Given the description of an element on the screen output the (x, y) to click on. 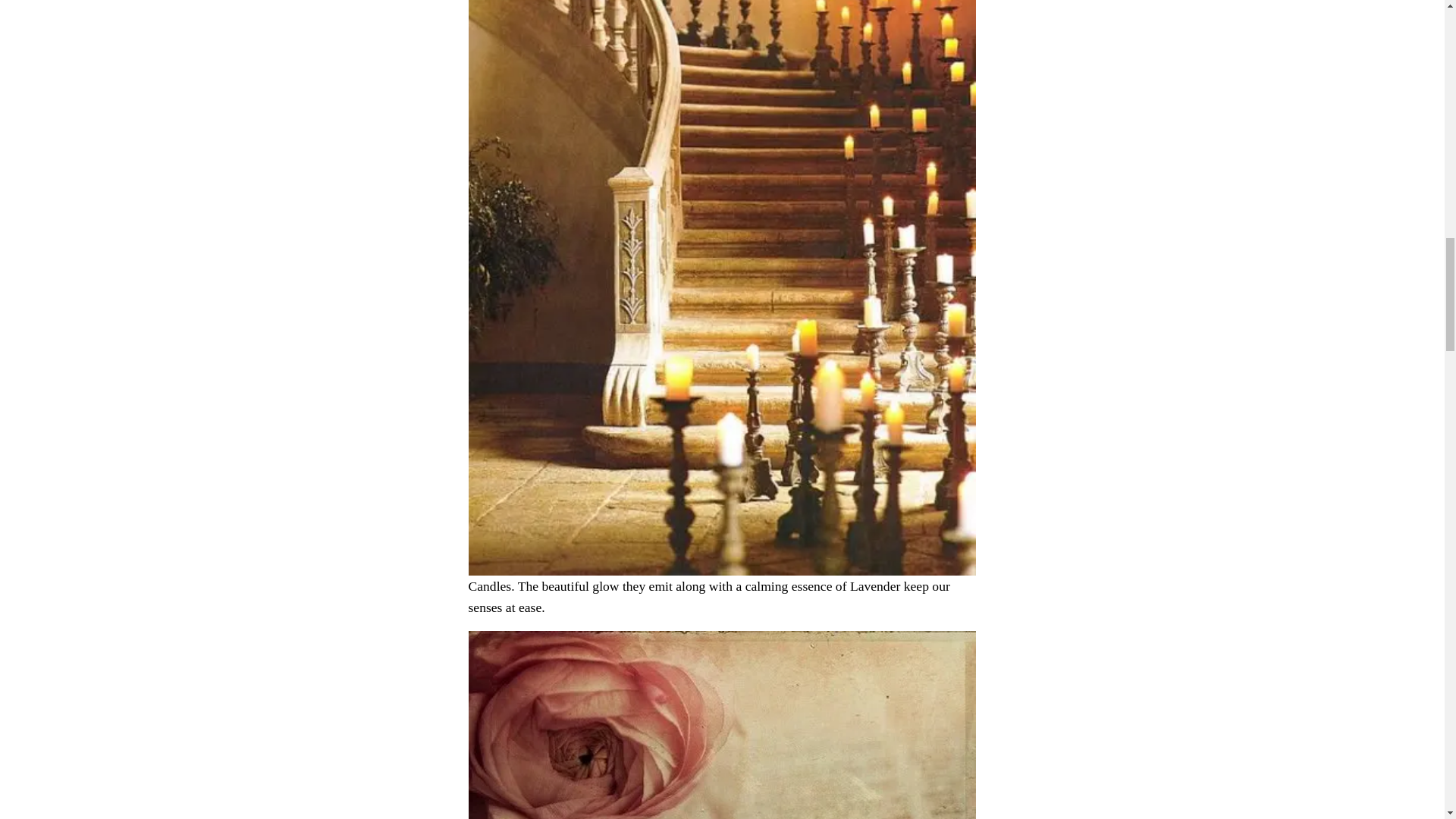
lalalovely image 3 (722, 724)
